Given the description of an element on the screen output the (x, y) to click on. 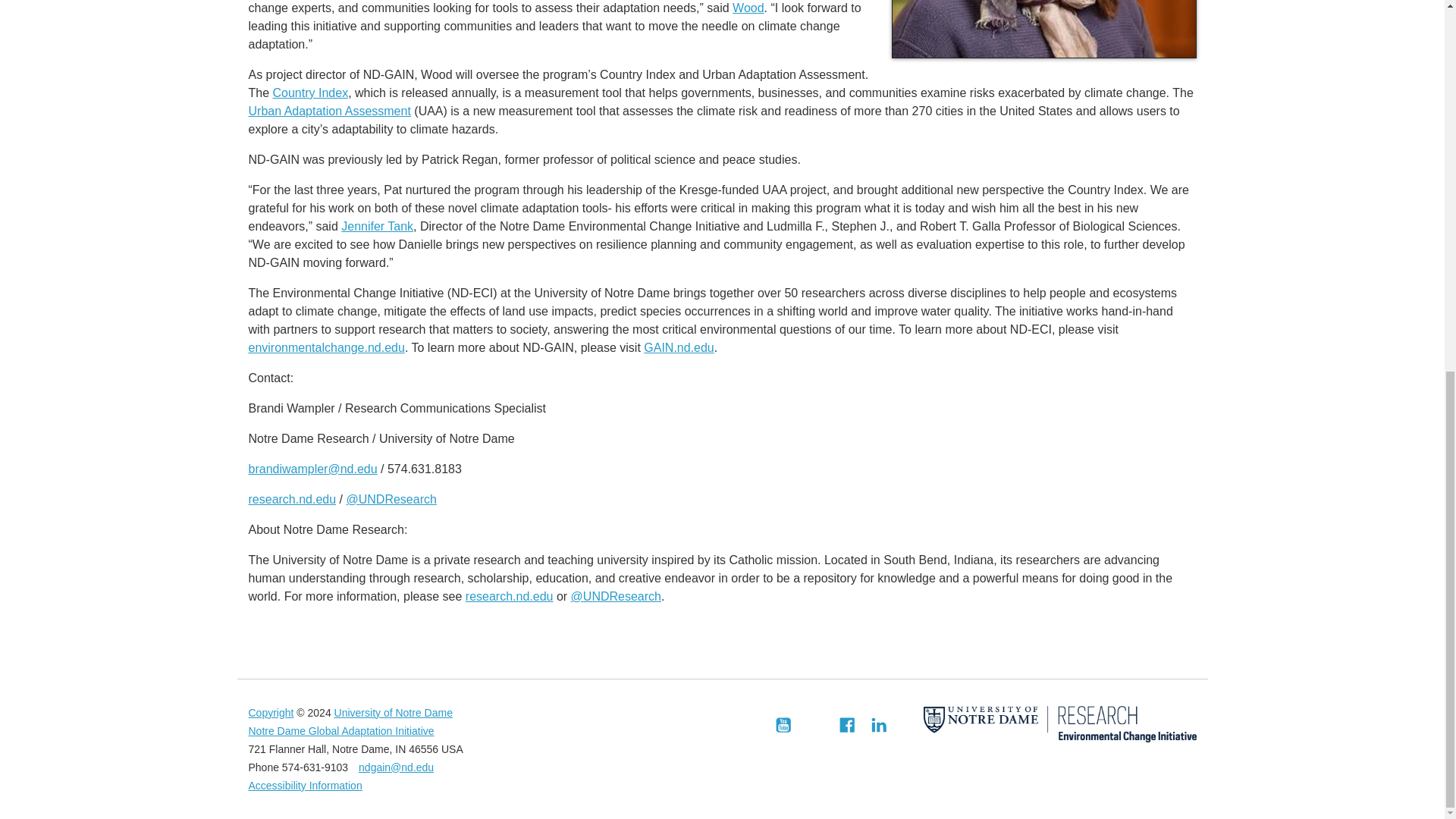
University of Notre Dame (393, 712)
environmentalchange.nd.edu (326, 347)
research.nd.edu (509, 595)
Wood (748, 7)
Accessibility Information (305, 785)
Copyright (271, 712)
Notre Dame Global Adaptation Initiative (340, 730)
Indiana (400, 748)
research.nd.edu (292, 499)
Country Index (311, 92)
Urban Adaptation Assessment (329, 110)
GAIN.nd.edu (678, 347)
Jennifer Tank (376, 226)
